Given the description of an element on the screen output the (x, y) to click on. 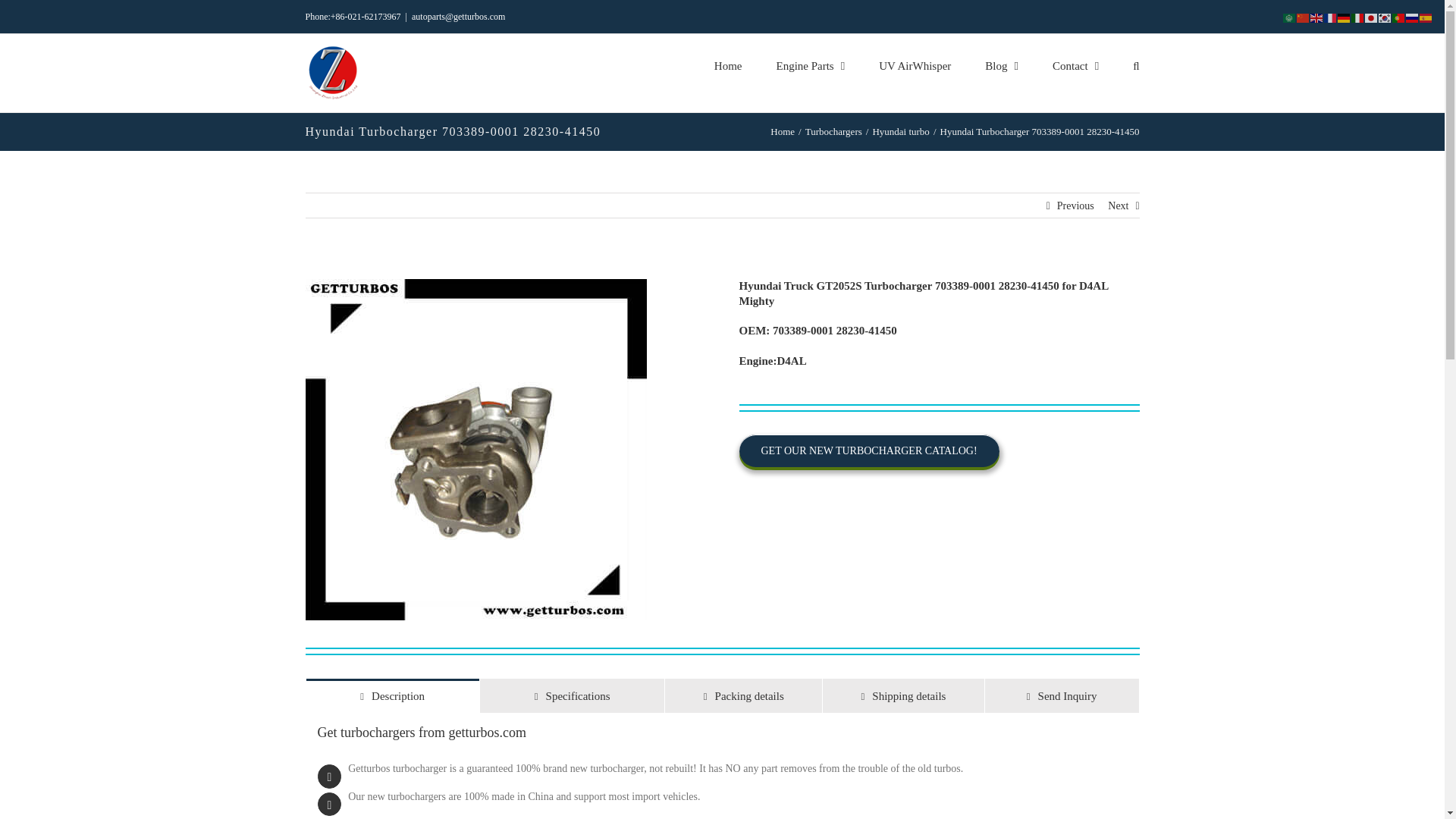
Engine Parts (810, 65)
Deutsch (1344, 16)
English (1316, 16)
UV AirWhisper (914, 65)
